Given the description of an element on the screen output the (x, y) to click on. 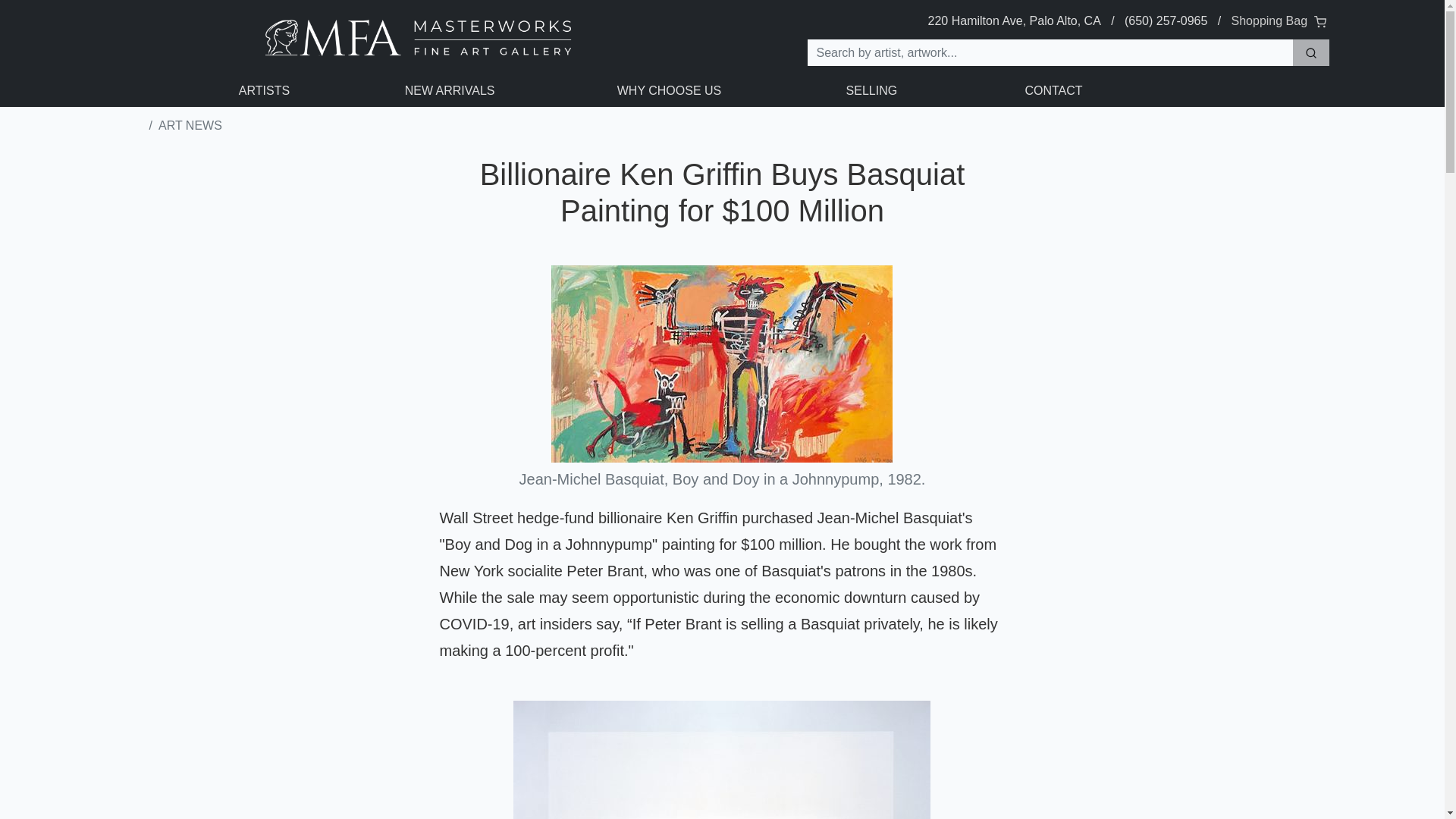
CONTACT (1053, 90)
Shopping Cart (1280, 20)
Search (1310, 52)
WHY CHOOSE US (669, 90)
Shopping Bag (1280, 20)
SELLING (870, 90)
ARTISTS (263, 90)
NEW ARRIVALS (449, 90)
Fine art original prints (132, 125)
ART NEWS (190, 124)
